Given the description of an element on the screen output the (x, y) to click on. 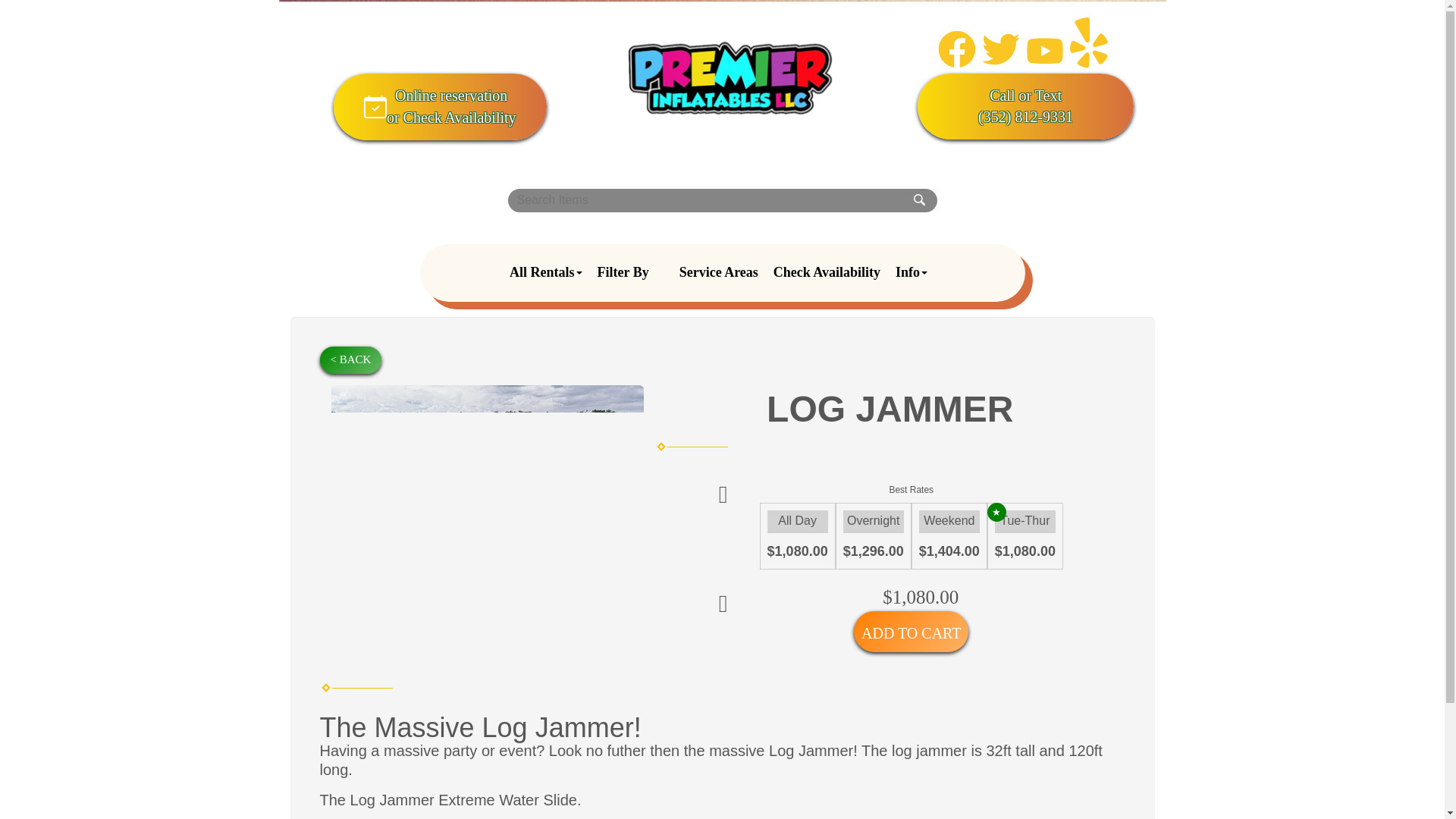
Premier Inflatables LLC YouTube (1045, 63)
Premier Inflatables LLC Twitter (440, 106)
All Rentals (722, 273)
Follow Us on Social Media (1000, 63)
Premier Inflatables LLC Yelp (545, 272)
ocala premier Logo (1025, 45)
Call or Text (1089, 63)
LOG JAMMER (731, 78)
Premier Inflatables LLC Facebook (1025, 96)
